Given the description of an element on the screen output the (x, y) to click on. 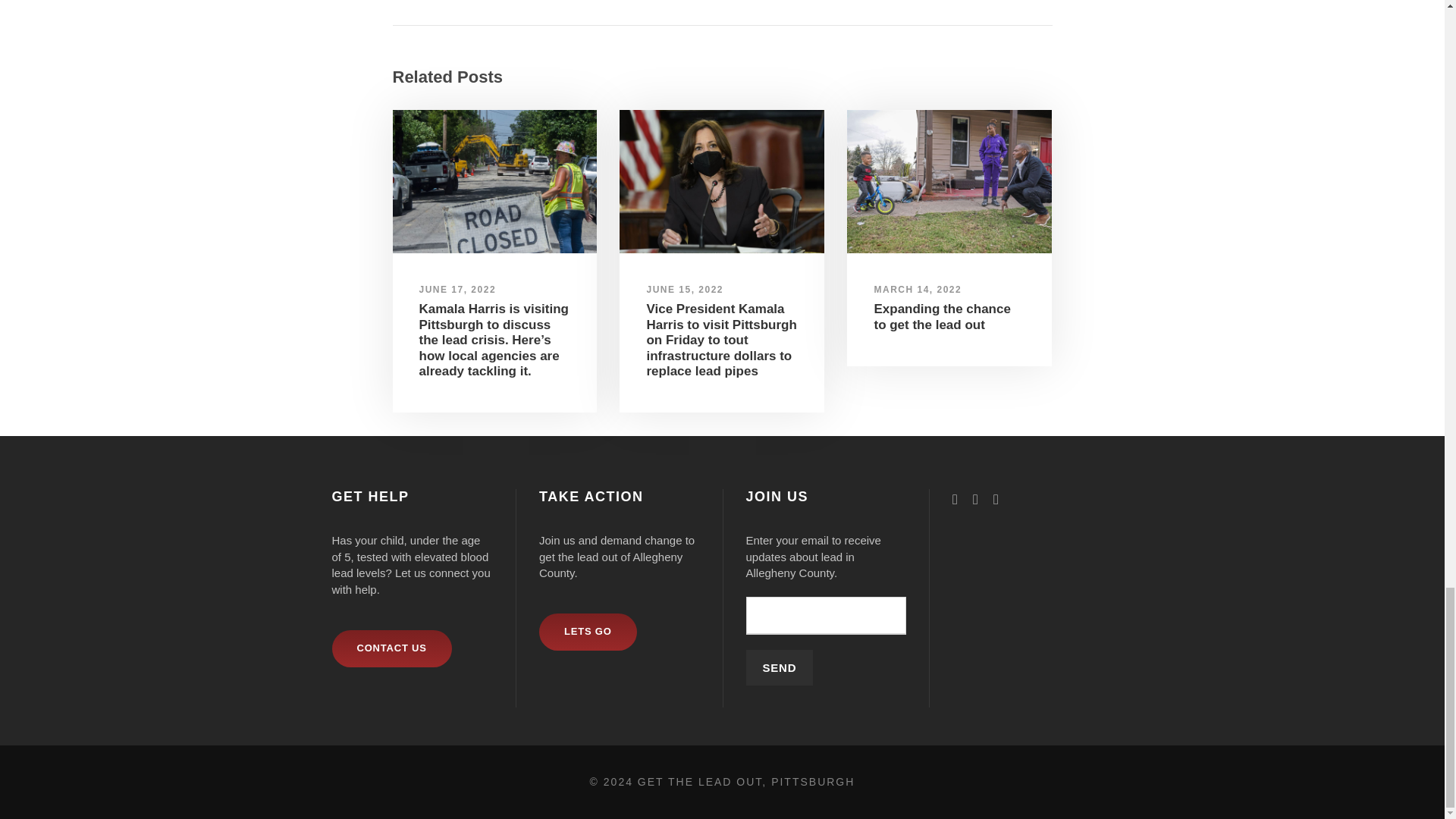
road-closed (494, 181)
Send (779, 667)
Harris (722, 181)
Crocodile (949, 181)
